Given the description of an element on the screen output the (x, y) to click on. 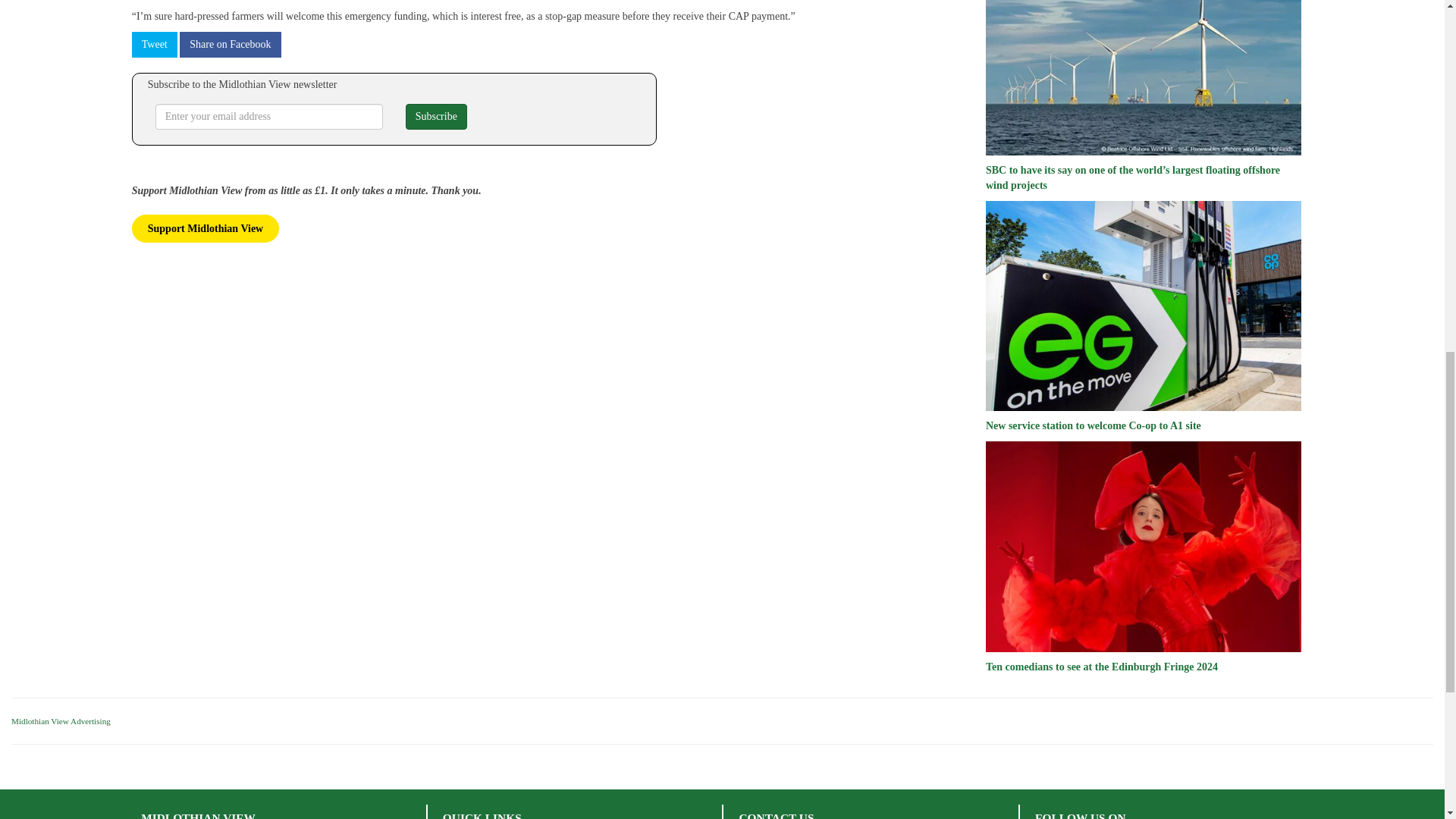
Tweet (154, 44)
Support Midlothian View (205, 228)
Share on Twitter (154, 44)
Share on Facebook (230, 44)
Subscribe (436, 116)
Share on Facebook (230, 44)
